Given the description of an element on the screen output the (x, y) to click on. 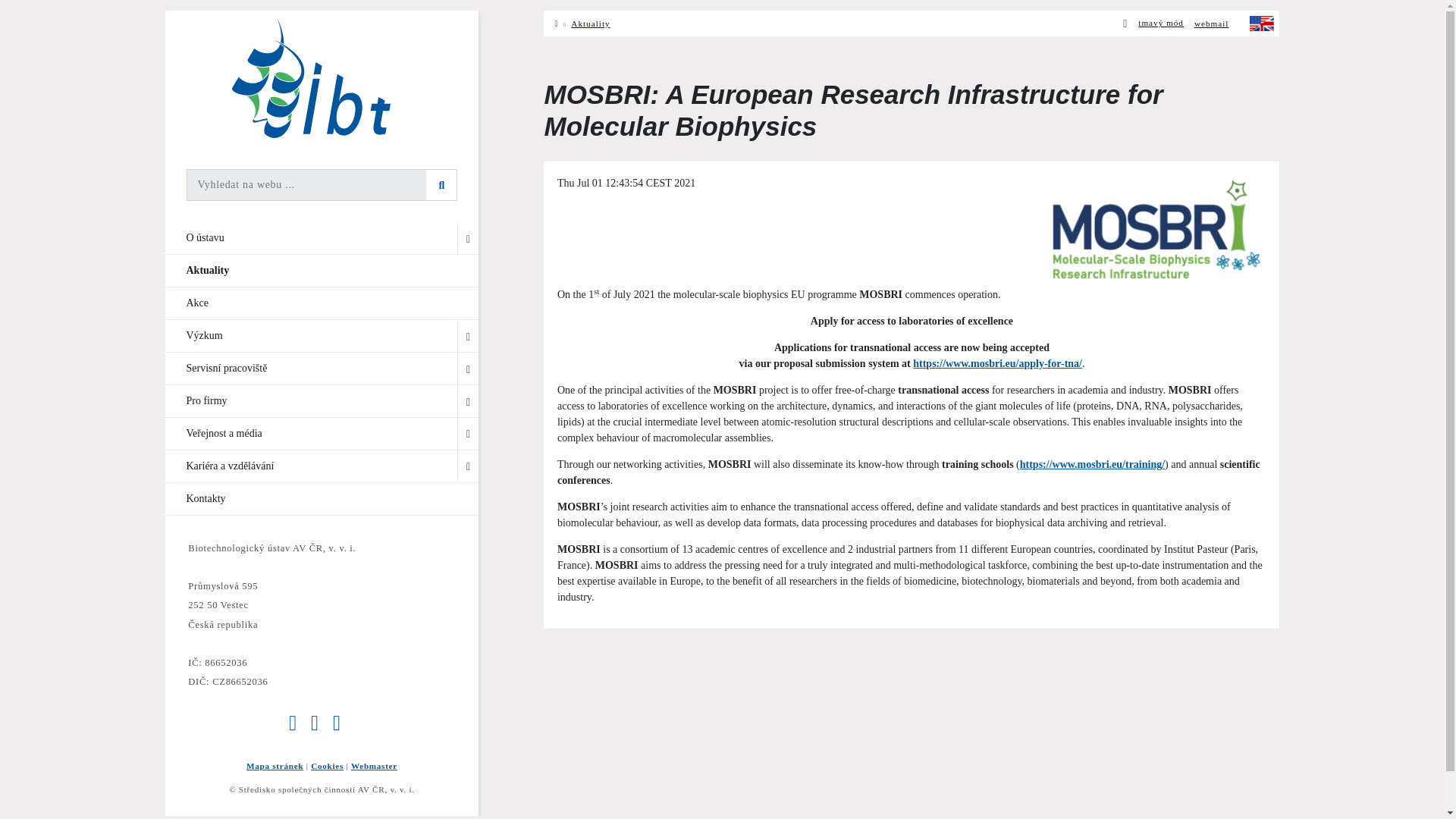
English (1261, 23)
Akce (322, 303)
Aktuality (322, 270)
Pro firmy (322, 400)
